Given the description of an element on the screen output the (x, y) to click on. 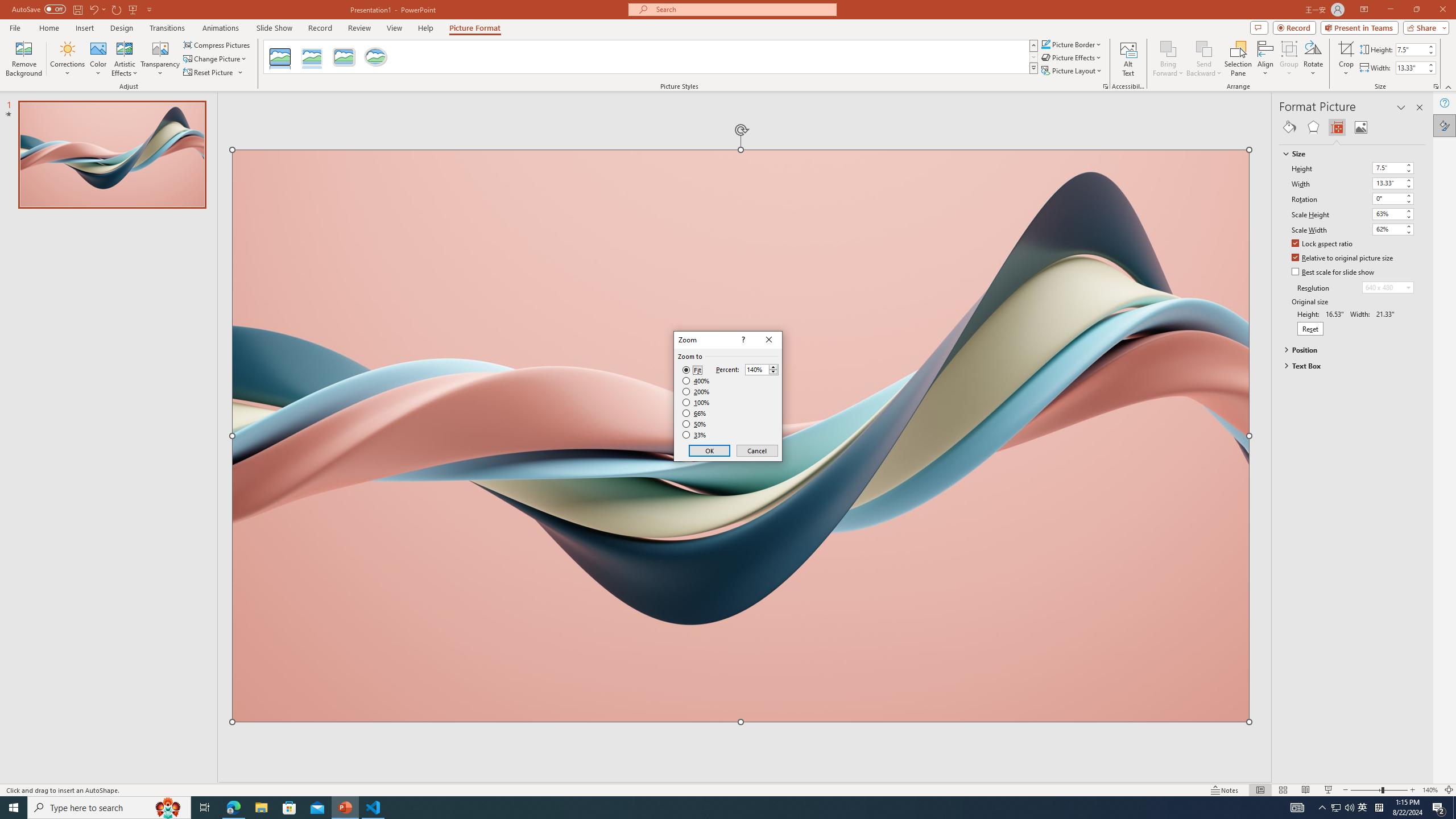
Send Backward (1204, 48)
Scale Width (1388, 229)
Scale Width (1393, 229)
Size & Properties (1336, 126)
Rotation (1393, 198)
Rotate (1312, 58)
33% (694, 434)
Change Picture (216, 58)
Best scale for slide show (1333, 272)
